Given the description of an element on the screen output the (x, y) to click on. 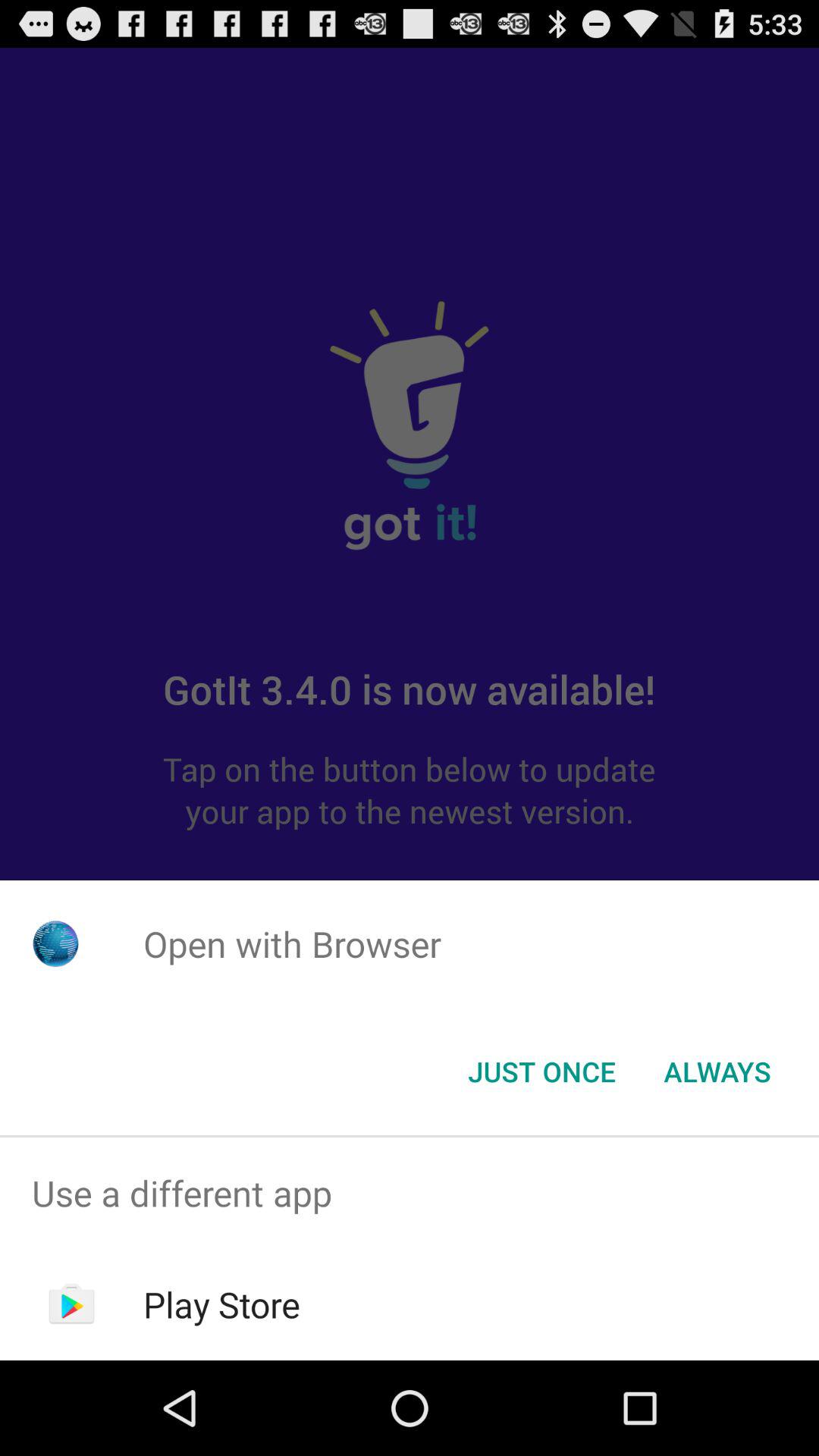
launch the play store (221, 1304)
